Given the description of an element on the screen output the (x, y) to click on. 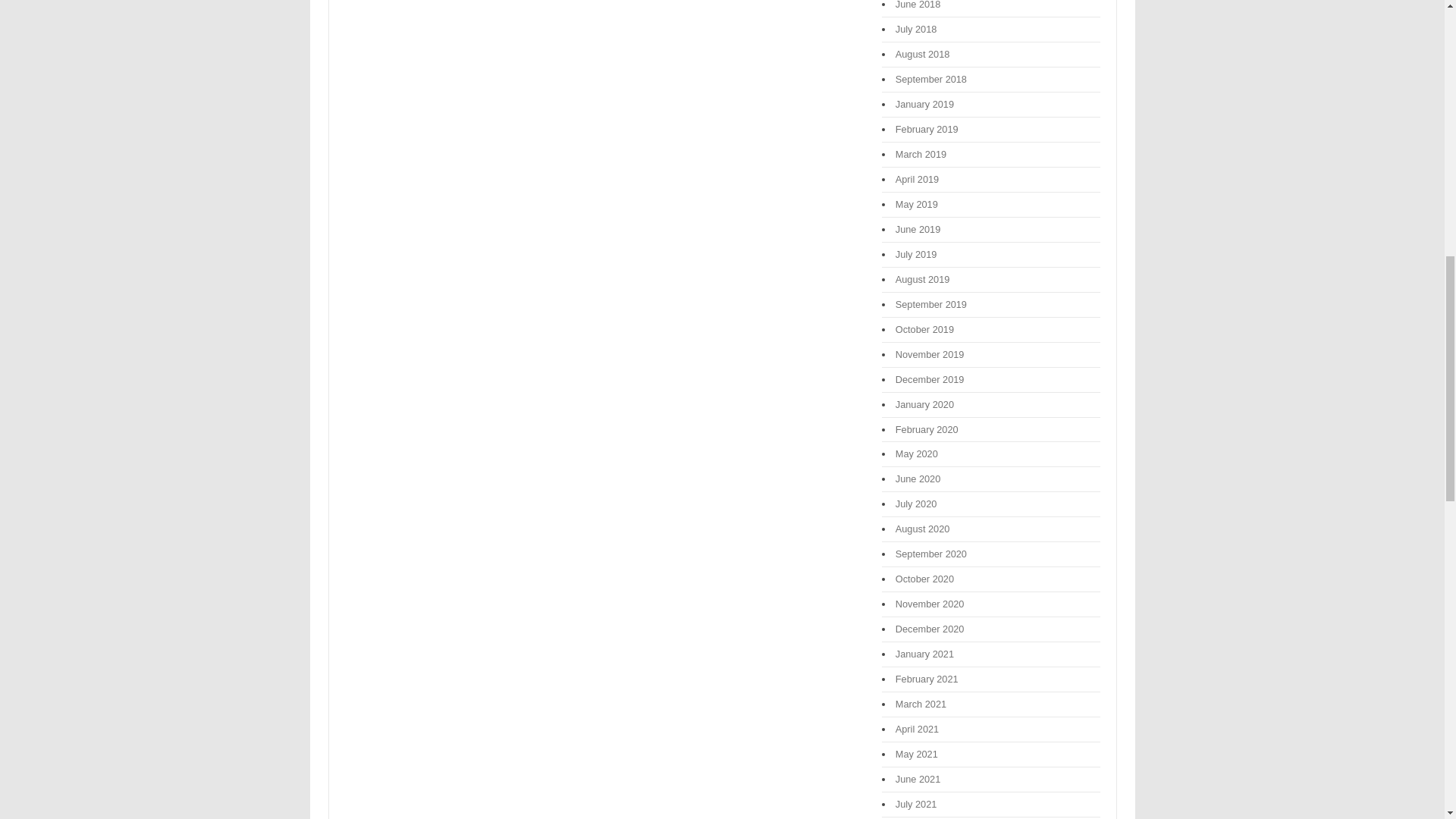
June 2019 (917, 229)
March 2019 (920, 153)
February 2019 (926, 129)
July 2019 (916, 254)
July 2018 (916, 29)
September 2018 (930, 79)
August 2018 (922, 53)
August 2019 (922, 279)
June 2018 (917, 4)
May 2019 (916, 204)
